Given the description of an element on the screen output the (x, y) to click on. 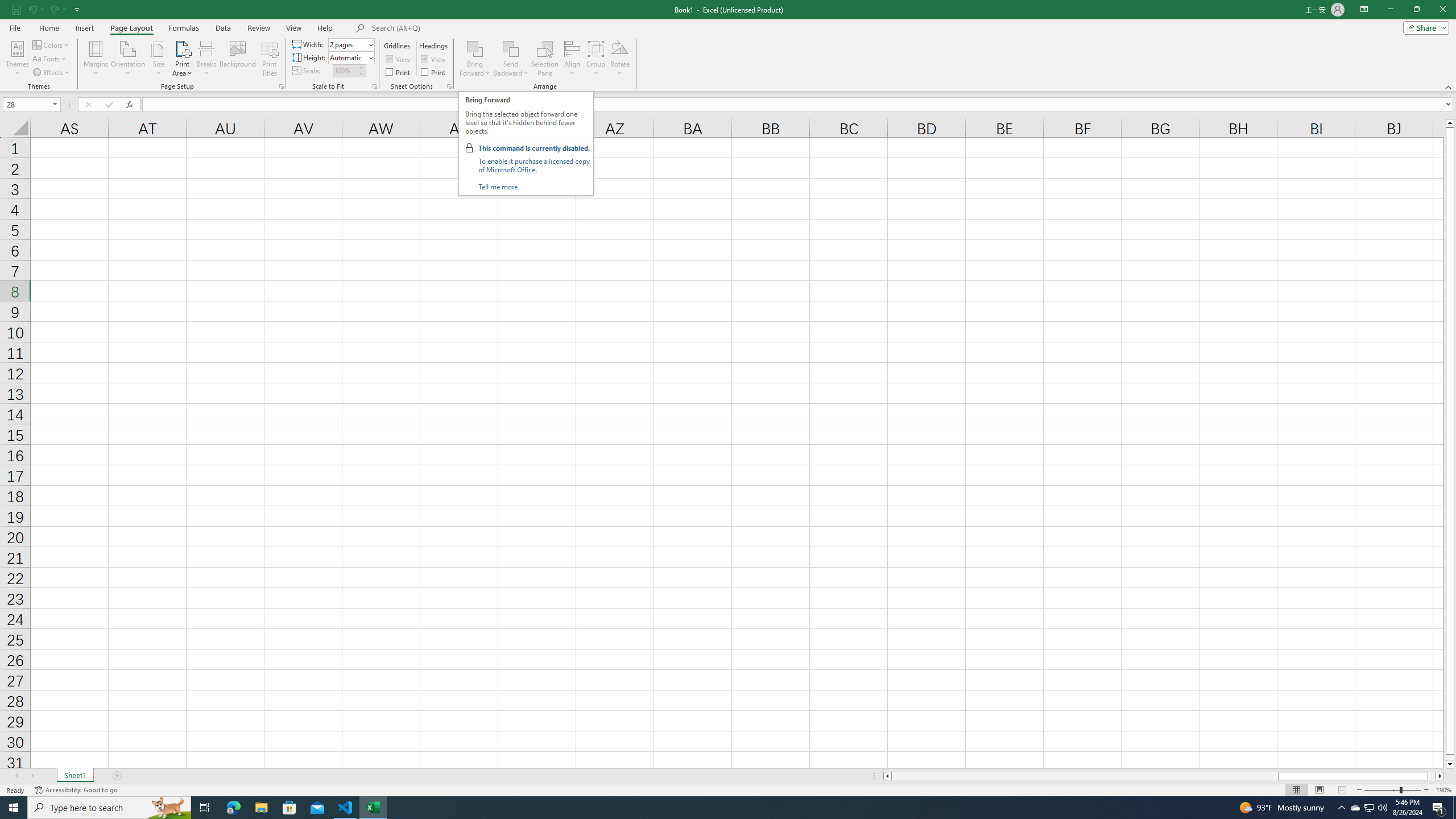
Bring Forward (475, 58)
Themes (17, 58)
Bring Forward (475, 48)
Print Titles (269, 58)
Print (434, 71)
Margins (95, 58)
